Given the description of an element on the screen output the (x, y) to click on. 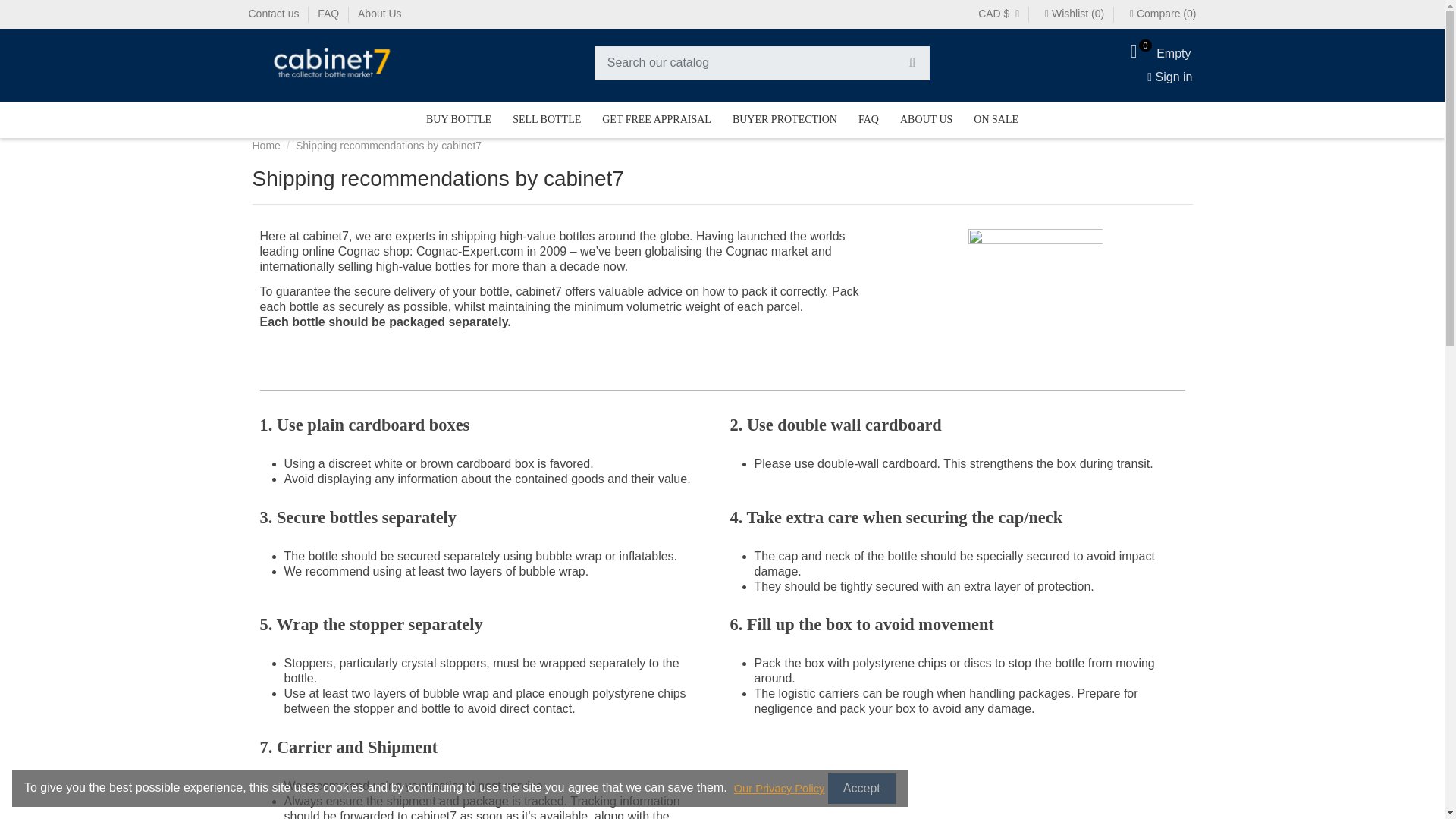
FAQ (868, 119)
FAQ (329, 13)
BUY BOTTLE (458, 119)
Sign in (1167, 76)
SELL BOTTLE (546, 119)
GET FREE APPRAISAL (1156, 51)
Home (656, 119)
Contact us (266, 145)
BUYER PROTECTION (275, 13)
ON SALE (784, 119)
Log in to your customer account (995, 119)
About Us (1167, 76)
ABOUT US (379, 13)
